Given the description of an element on the screen output the (x, y) to click on. 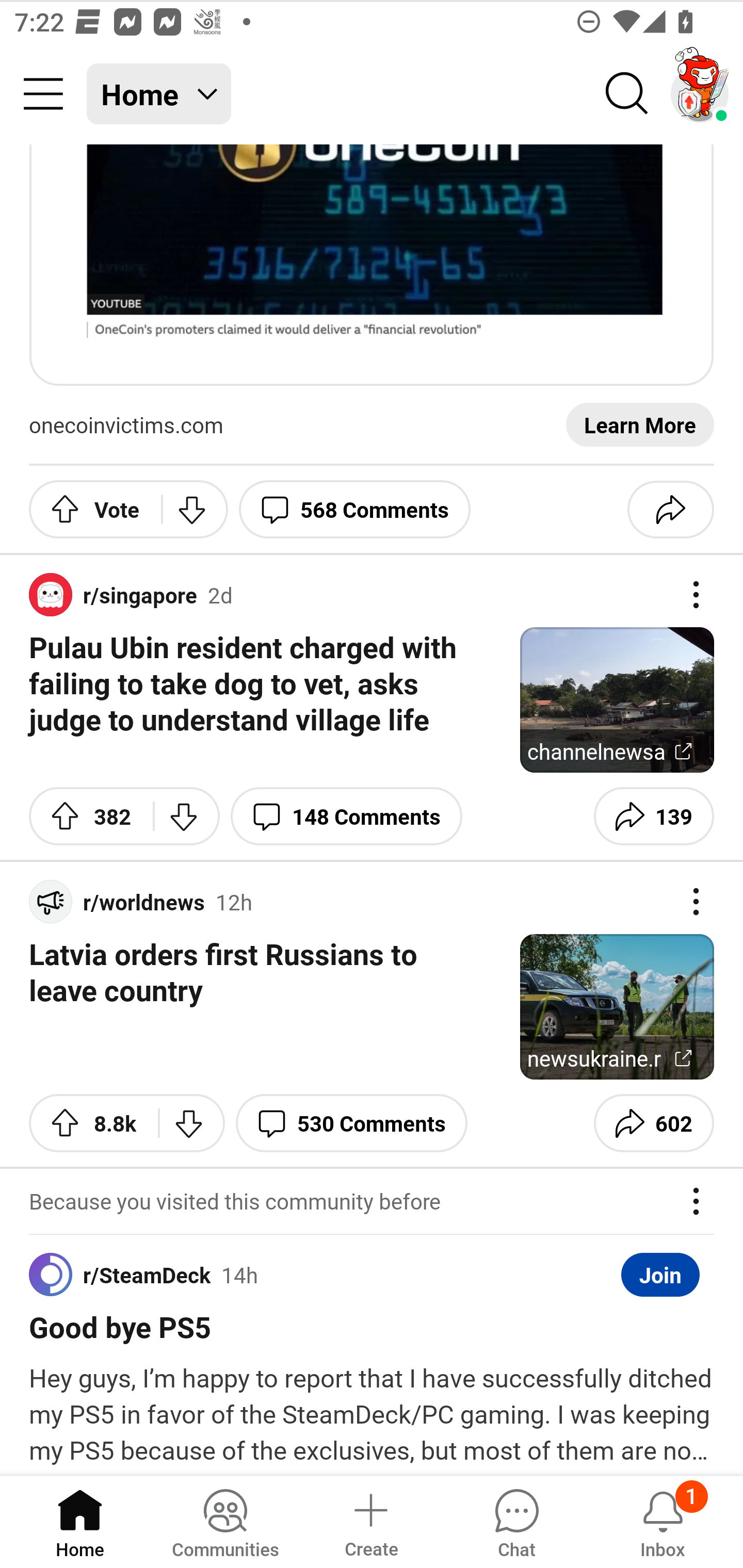
Community menu (43, 93)
Home Home feed (158, 93)
Search (626, 93)
TestAppium002 account (699, 93)
Home (80, 1520)
Communities (225, 1520)
Create a post Create (370, 1520)
Chat (516, 1520)
Inbox, has 1 notification 1 Inbox (662, 1520)
